Given the description of an element on the screen output the (x, y) to click on. 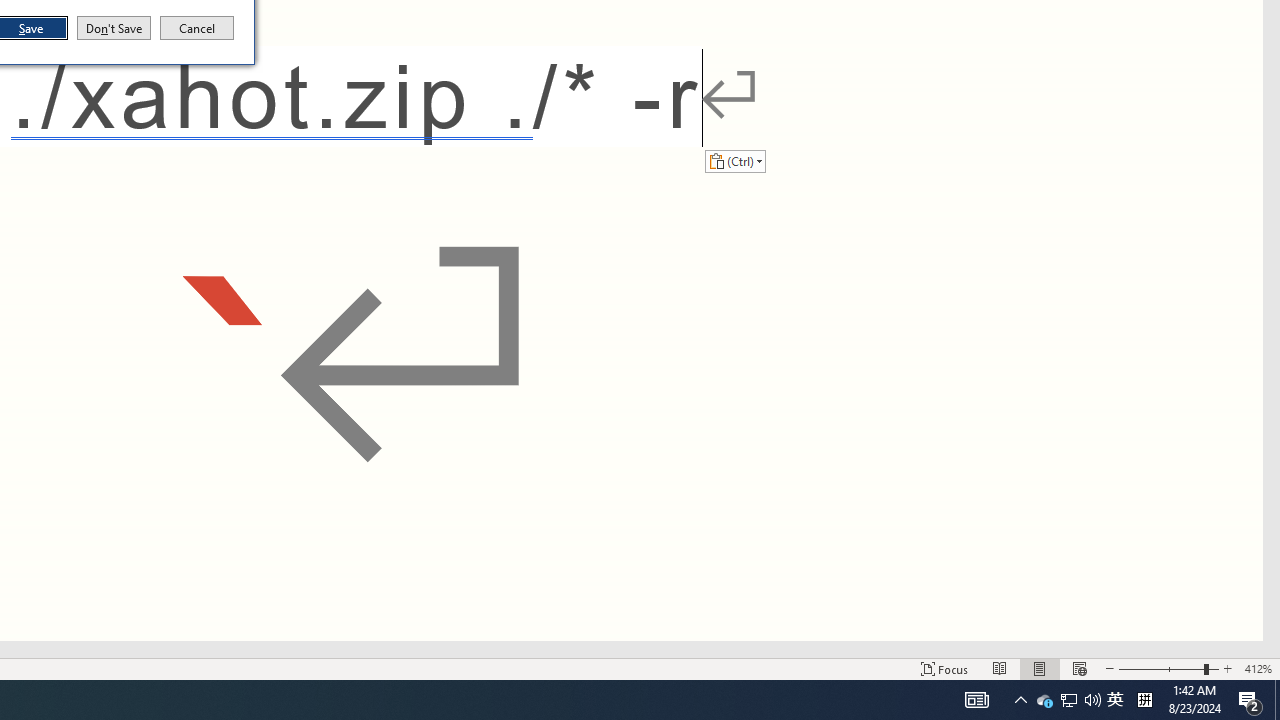
Notification Chevron (1020, 699)
Zoom (1044, 699)
Cancel (1168, 668)
Zoom 412% (197, 27)
Q2790: 100% (1069, 699)
Web Layout (1258, 668)
Read Mode (1115, 699)
User Promoted Notification Area (1092, 699)
Zoom In (1079, 668)
Zoom Out (1000, 668)
Print Layout (1068, 699)
